Given the description of an element on the screen output the (x, y) to click on. 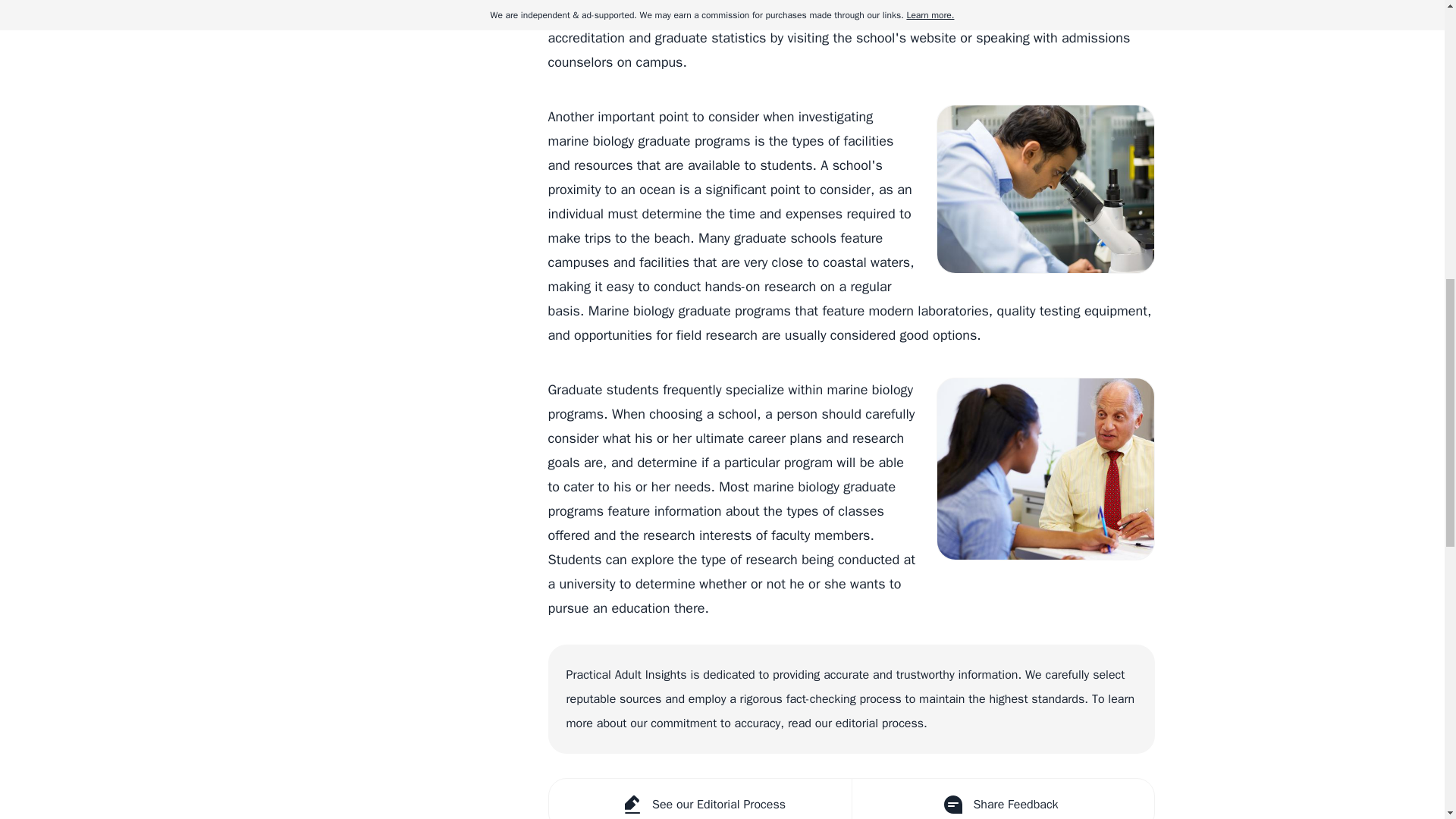
Share Feedback (1001, 798)
See our Editorial Process (699, 798)
